Given the description of an element on the screen output the (x, y) to click on. 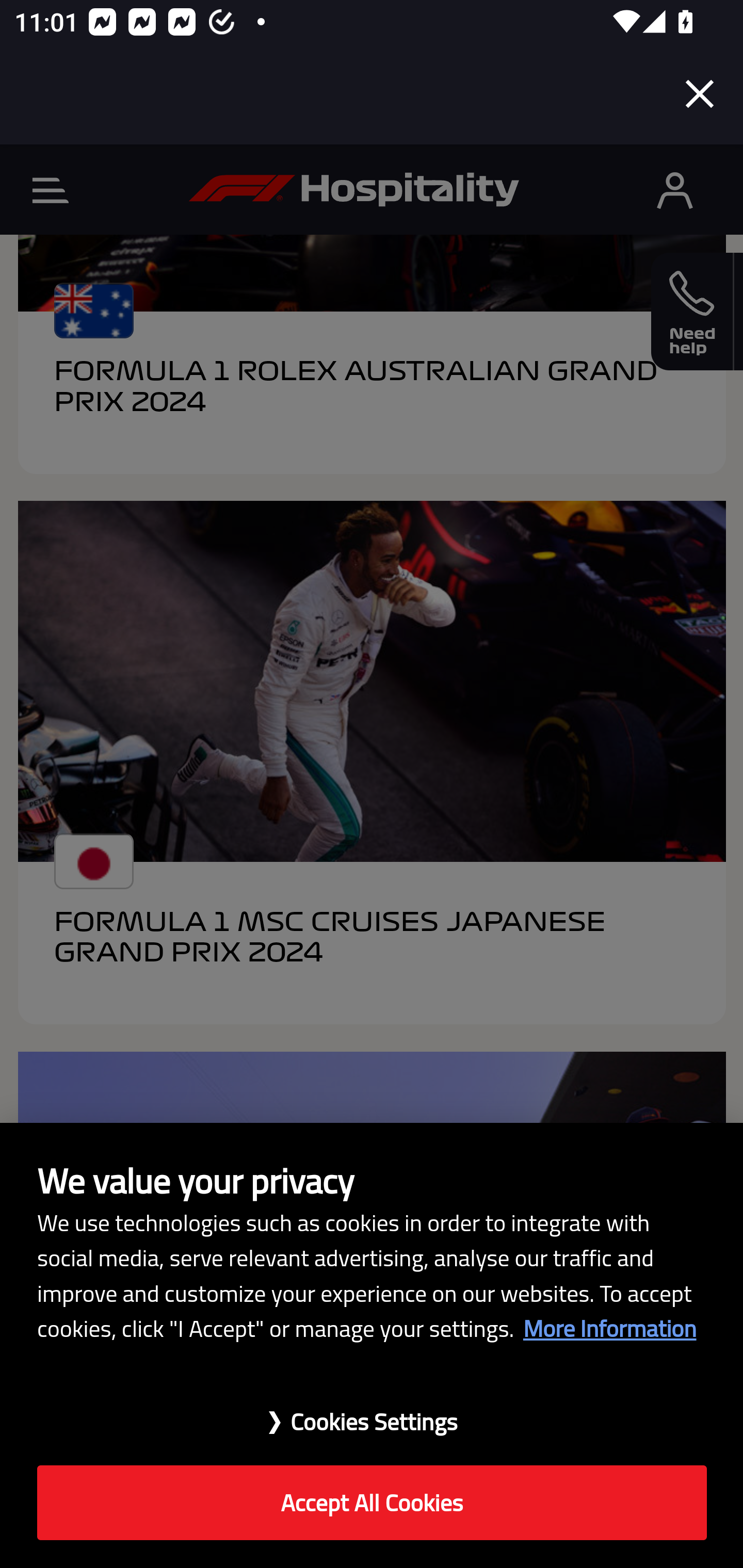
Close (699, 93)
